Given the description of an element on the screen output the (x, y) to click on. 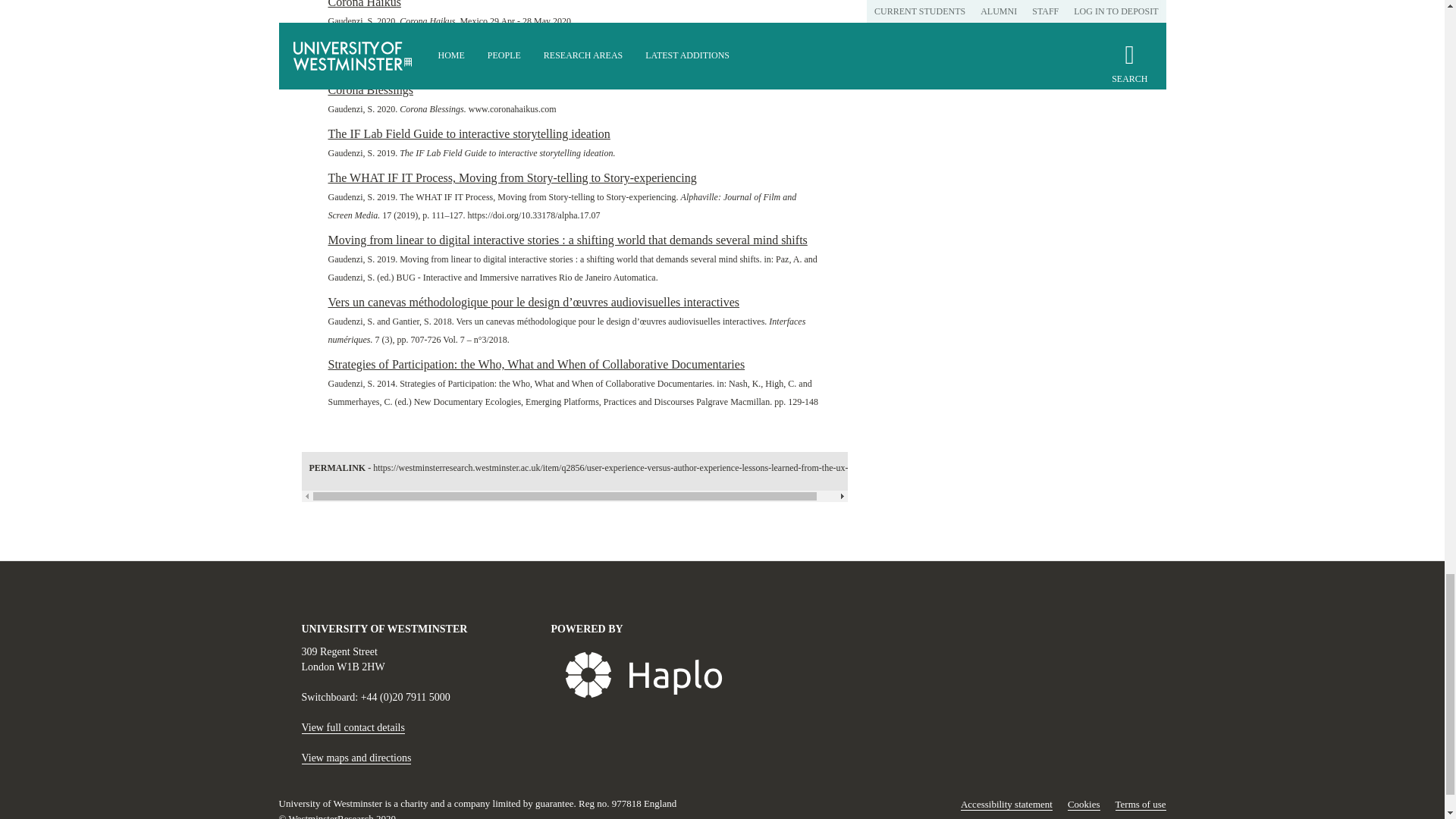
Terms of use (1140, 804)
Corona Haikus (363, 45)
View maps and directions (356, 758)
Corona Haikus (363, 4)
View full contact details (352, 727)
Cookies (1083, 804)
Accessibility statement (1006, 804)
Corona Blessings (369, 89)
The IF Lab Field Guide to interactive storytelling ideation (468, 133)
